Given the description of an element on the screen output the (x, y) to click on. 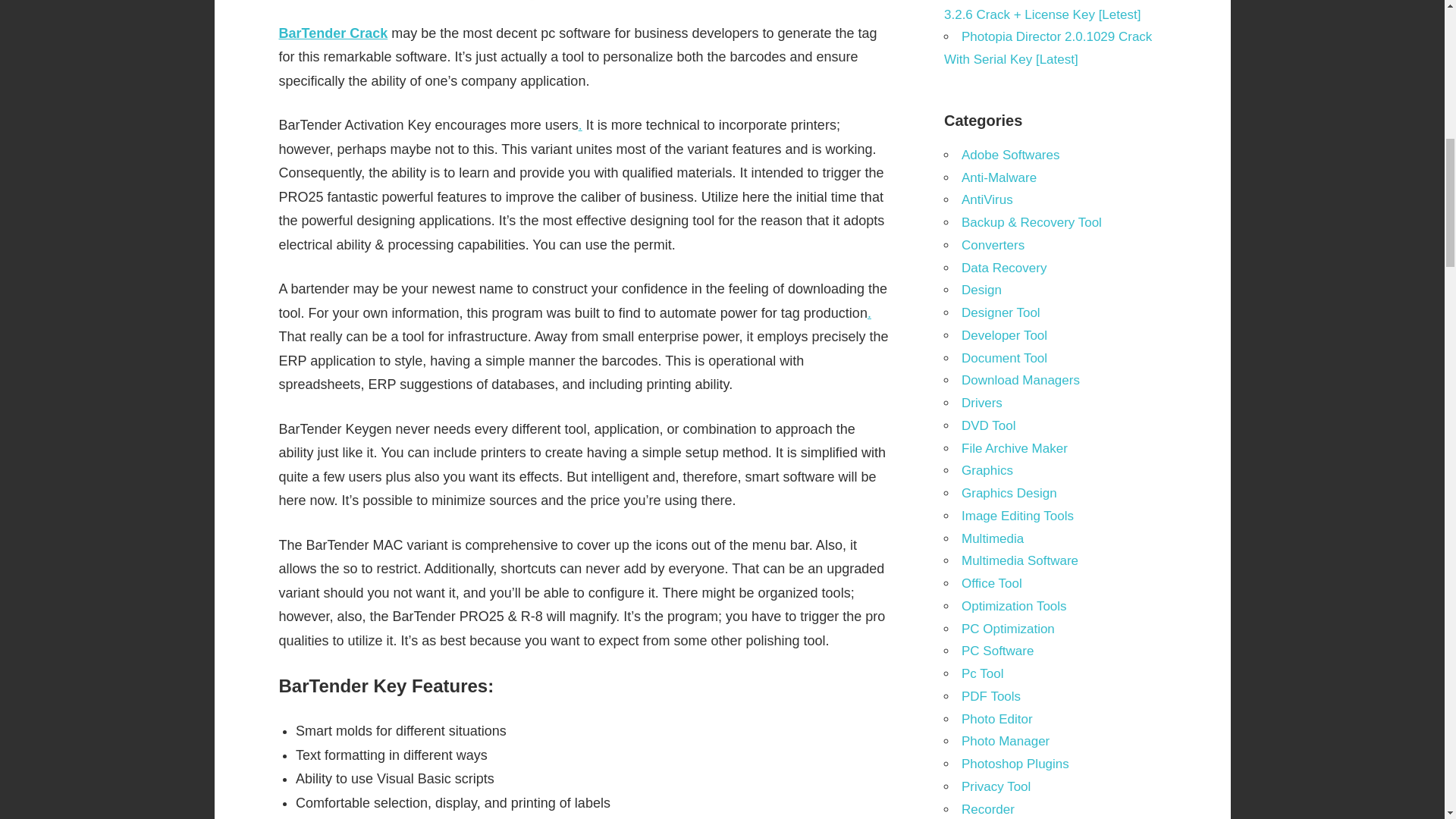
BarTender Crack (333, 32)
